Given the description of an element on the screen output the (x, y) to click on. 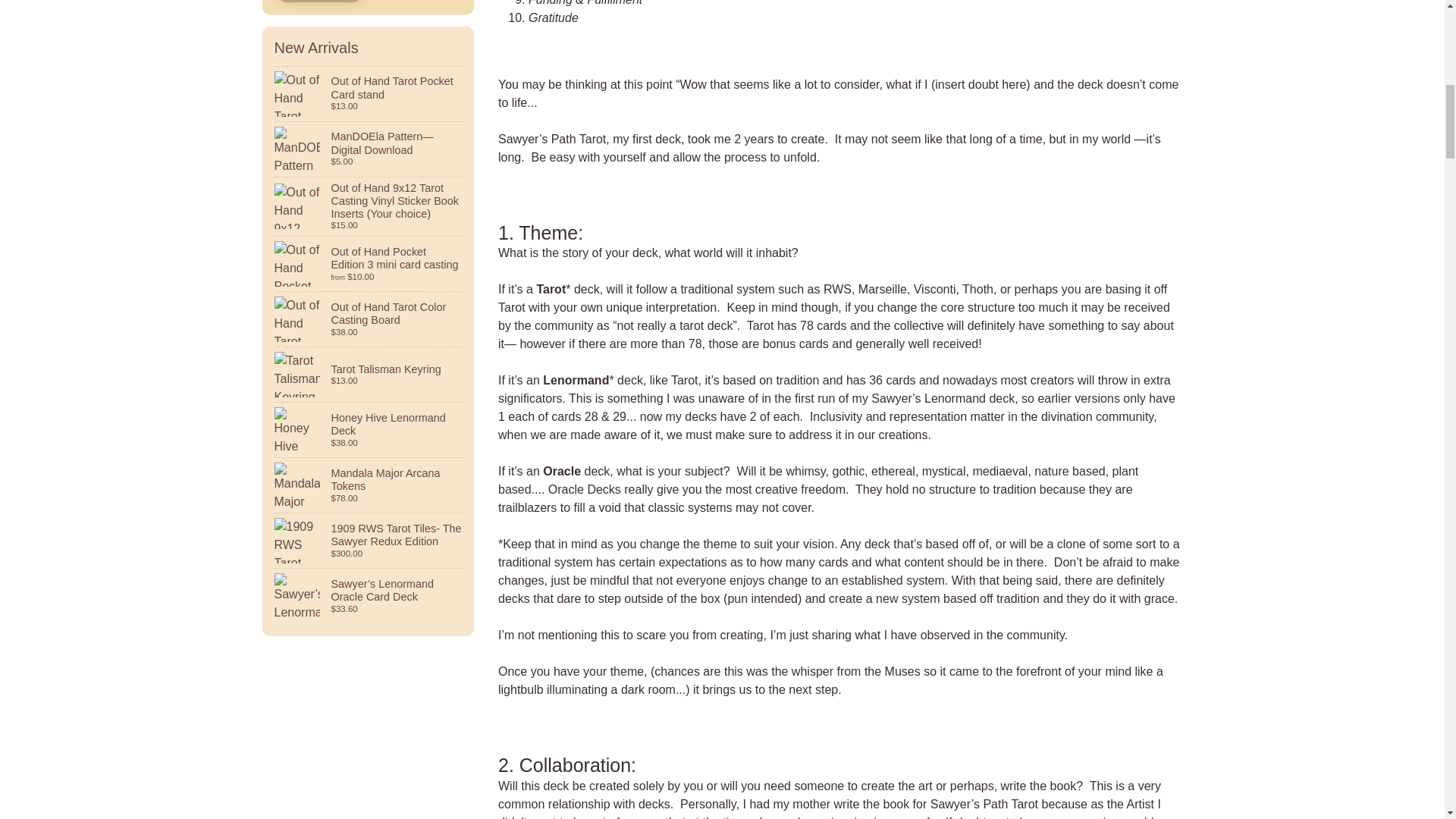
Out of Hand Tarot Color Casting Board (369, 318)
Mandala Major Arcana Tokens (369, 484)
Out of Hand Tarot Pocket Card stand (369, 93)
1909 RWS Tarot Tiles- The Sawyer Redux Edition (369, 540)
Tarot Talisman Keyring (369, 374)
Honey Hive Lenormand Deck (369, 429)
Out of Hand Pocket Edition 3 mini card casting (369, 263)
